Given the description of an element on the screen output the (x, y) to click on. 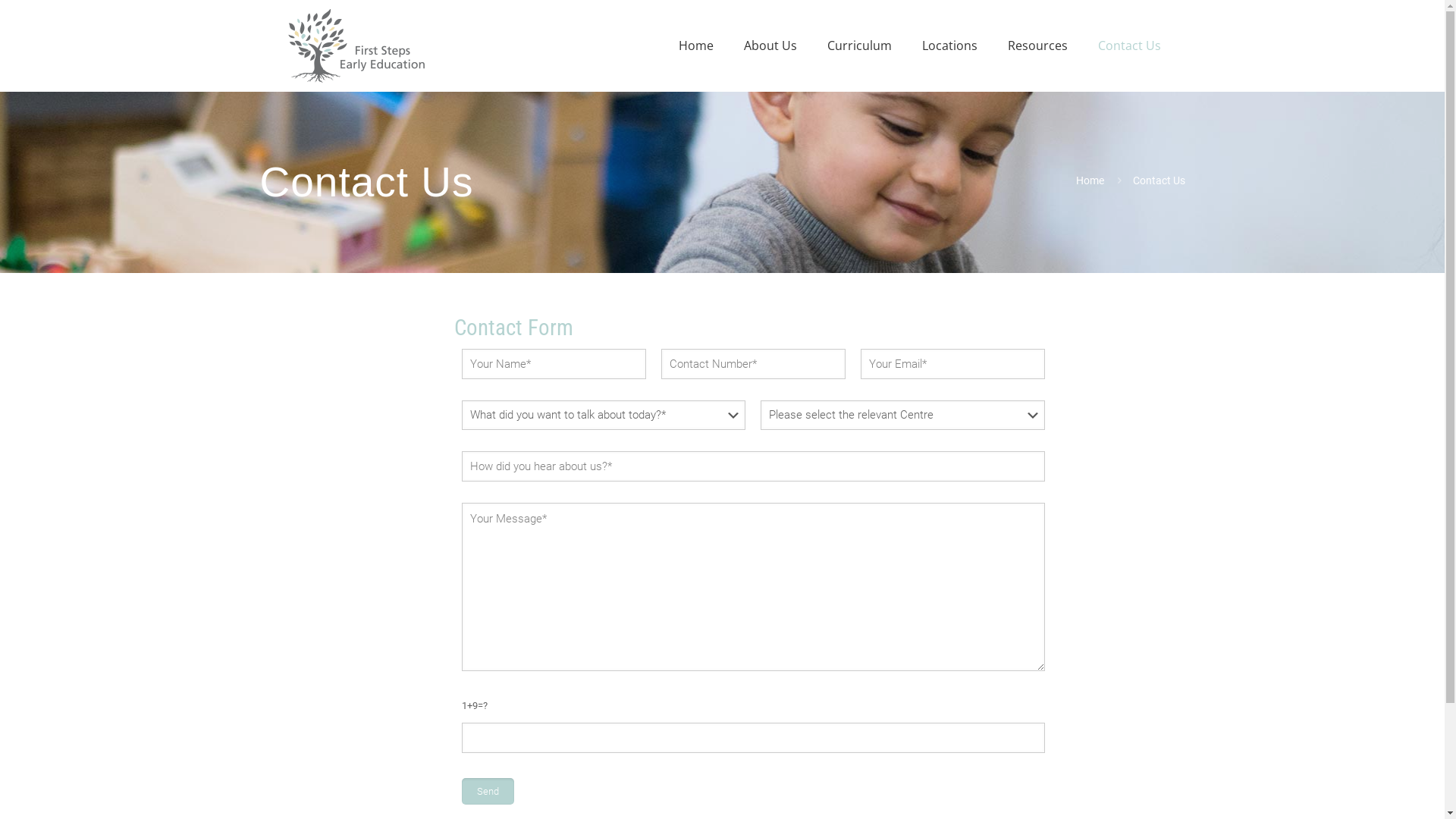
Home Element type: text (1090, 180)
Locations Element type: text (949, 45)
Home Element type: text (695, 45)
First Steps Early Education Element type: hover (355, 45)
Resources Element type: text (1036, 45)
Curriculum Element type: text (858, 45)
Contact Us Element type: text (1129, 45)
About Us Element type: text (769, 45)
Send Element type: text (487, 791)
